Given the description of an element on the screen output the (x, y) to click on. 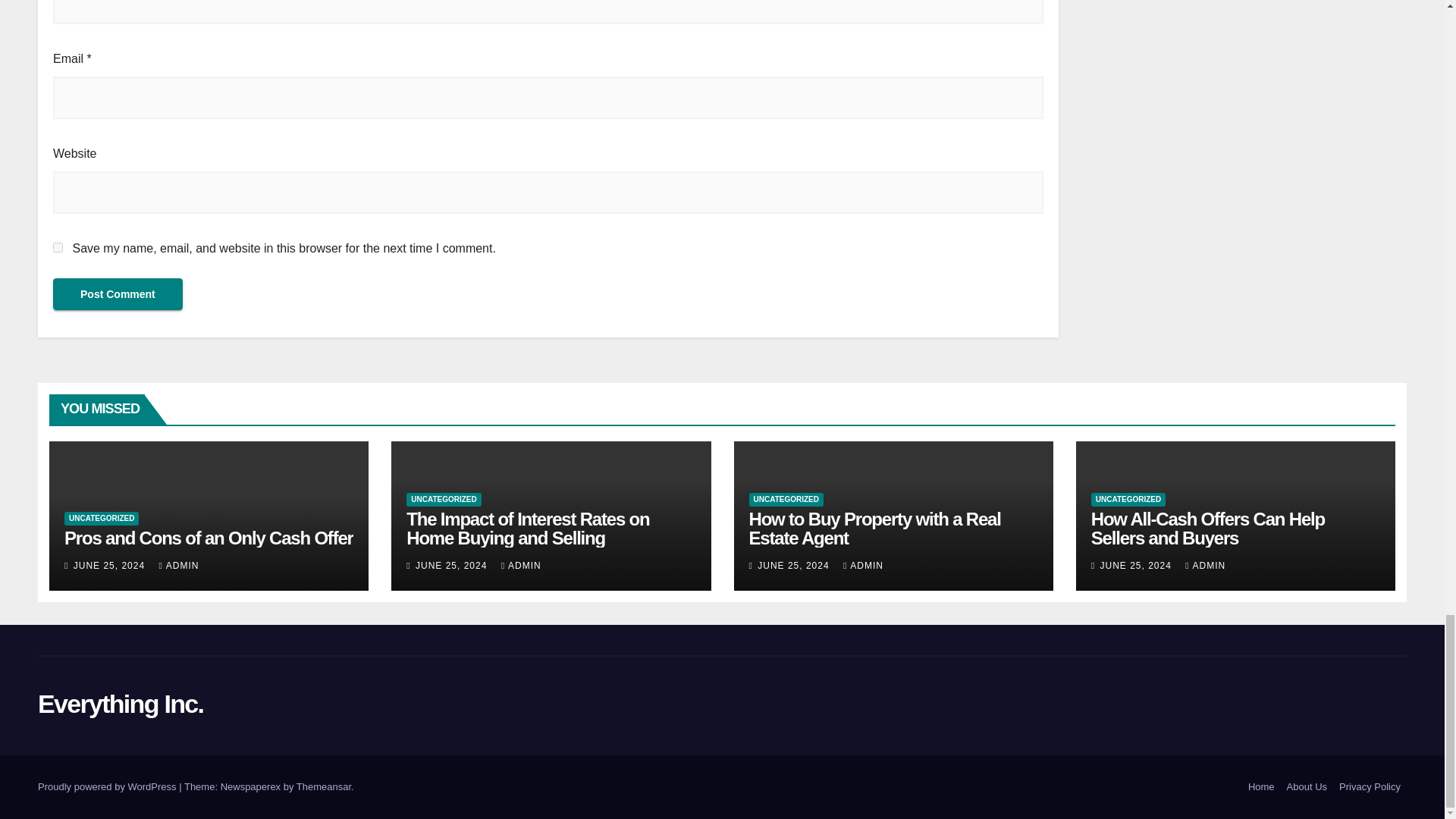
yes (57, 247)
Post Comment (117, 294)
